Given the description of an element on the screen output the (x, y) to click on. 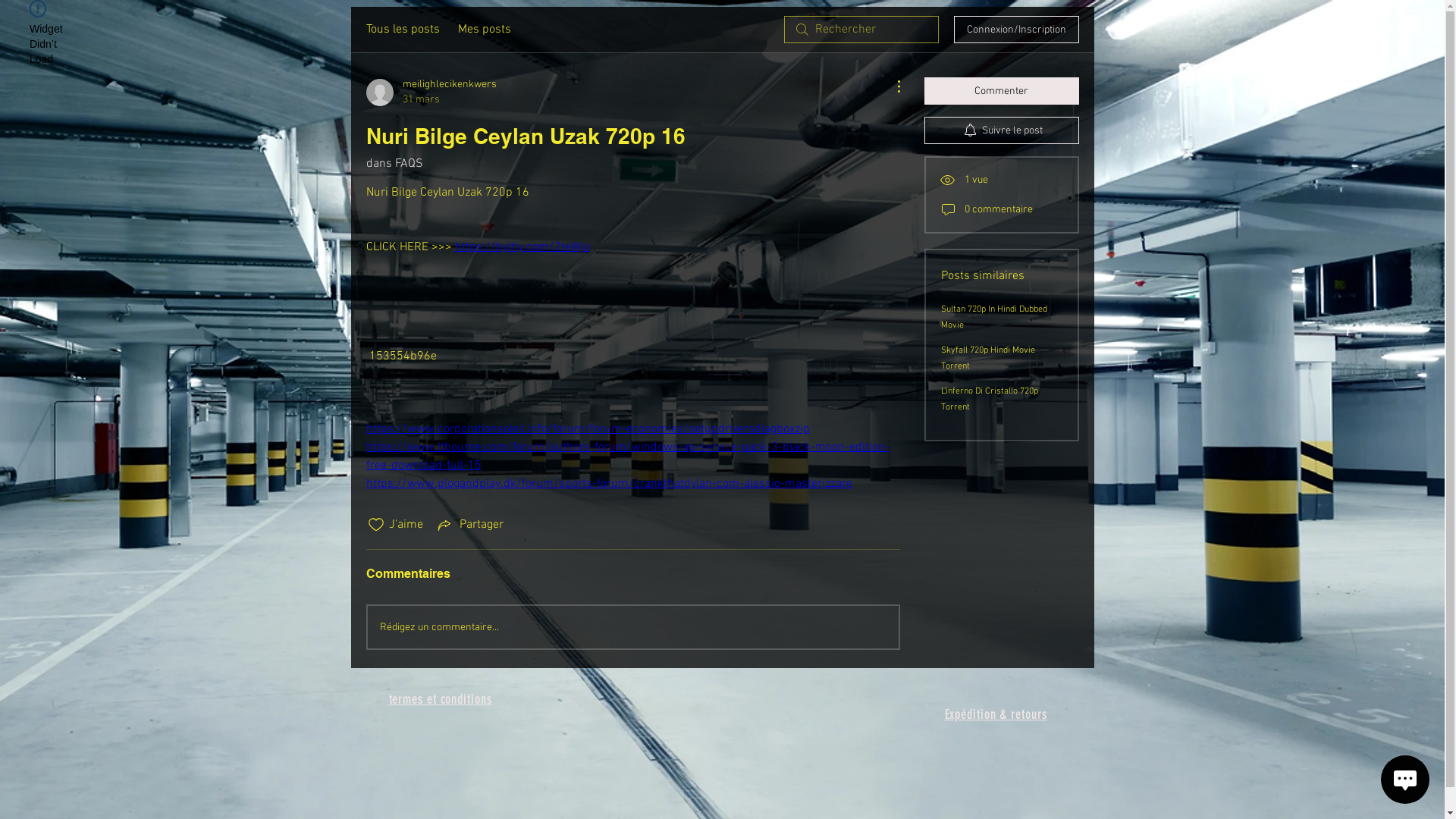
meilighlecikenkwers
31 mars Element type: text (430, 92)
https://byltly.com/2teWjo Element type: text (522, 246)
dans FAQS Element type: text (393, 163)
Sultan 720p In Hindi Dubbed Movie Element type: text (993, 317)
Skyfall 720p Hindi Movie Torrent Element type: text (987, 358)
Partager Element type: text (469, 524)
Tous les posts Element type: text (402, 29)
Suivre le post Element type: text (1000, 130)
termes et conditions Element type: text (439, 700)
Connexion/Inscription Element type: text (1016, 29)
L'inferno Di Cristallo 720p Torrent Element type: text (988, 398)
Mes posts Element type: text (484, 29)
Commenter Element type: text (1000, 90)
